Given the description of an element on the screen output the (x, y) to click on. 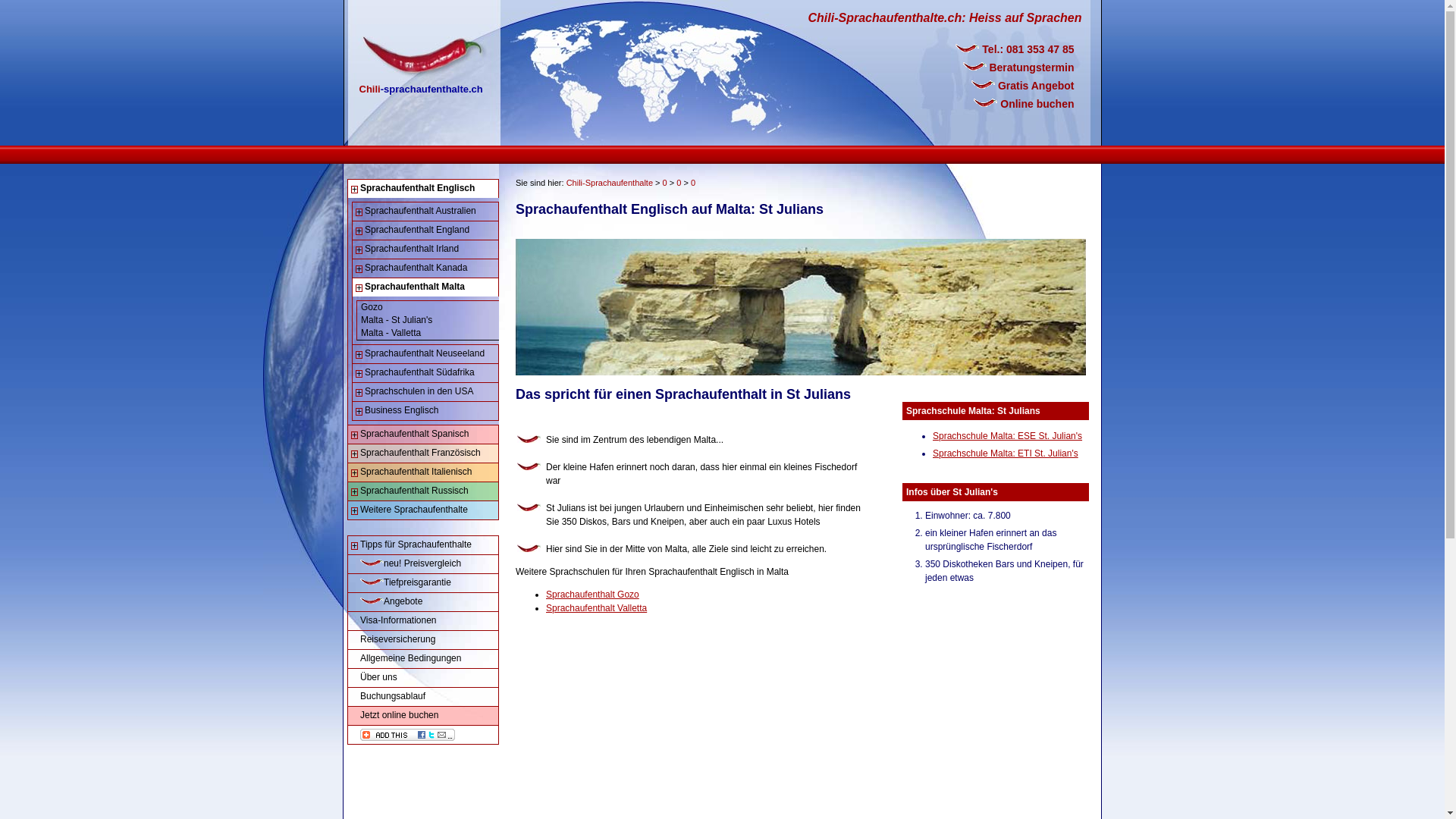
+ Element type: text (354, 189)
+ Element type: text (358, 373)
0 Element type: text (678, 182)
Sprachaufenthalt Kanada Element type: text (425, 268)
+ Element type: text (358, 354)
0 Element type: text (664, 182)
Business Englisch Element type: text (425, 410)
Sprachaufenthalt Australien Element type: text (425, 211)
+ Element type: text (358, 392)
Sprachaufenthalt Spanisch Element type: text (423, 434)
neu! Preisvergleich Element type: text (423, 564)
Visa-Informationen Element type: text (423, 620)
0 Element type: text (692, 182)
Malta - St Julian's Element type: text (427, 319)
-sprachaufenthalte.ch Element type: text (431, 65)
+ Element type: text (358, 269)
Sprachschule Malta: ETI St. Julian's Element type: text (1005, 453)
+ Element type: text (358, 250)
Sprachaufenthalt Irland Element type: text (425, 249)
Allgemeine Bedingungen Element type: text (423, 658)
+ Element type: text (358, 411)
Sprachschulen in den USA Element type: text (425, 391)
Sprachaufenthalt Gozo Element type: text (592, 594)
Gratis Angebot Element type: text (975, 85)
Sprachaufenthalt Englisch Element type: text (423, 188)
+ Element type: text (354, 491)
Sprachaufenthalt Malta Element type: text (425, 287)
+ Element type: text (354, 510)
Online buchen Element type: text (975, 103)
Sprachaufenthalt Russisch Element type: text (423, 491)
+ Element type: text (354, 454)
Beratungstermin Element type: text (975, 67)
Weitere Sprachaufenthalte Element type: text (423, 510)
+ Element type: text (358, 212)
+ Element type: text (354, 472)
Angebote Element type: text (423, 602)
Buchungsablauf Element type: text (423, 696)
Sprachaufenthalt England Element type: text (425, 230)
Sprachschule Malta: St Julians Element type: text (973, 410)
Sprachschule Malta: ESE St. Julian's Element type: text (1007, 435)
+ Element type: text (354, 435)
Sprachaufenthalt Italienisch Element type: text (423, 472)
Gozo Element type: text (427, 307)
Malta - Valletta Element type: text (427, 332)
Tiefpreisgarantie Element type: text (423, 583)
Tel.: 081 353 47 85 Element type: text (975, 49)
Jetzt online buchen Element type: text (423, 715)
Chili-Sprachaufenthalte Element type: text (609, 182)
Sprachaufenthalt Neuseeland Element type: text (425, 354)
Sprachaufenthalt Valletta Element type: text (596, 607)
+ Element type: text (358, 287)
Chili Element type: text (369, 65)
+ Element type: text (354, 545)
+ Element type: text (358, 231)
Reiseversicherung Element type: text (423, 639)
